Given the description of an element on the screen output the (x, y) to click on. 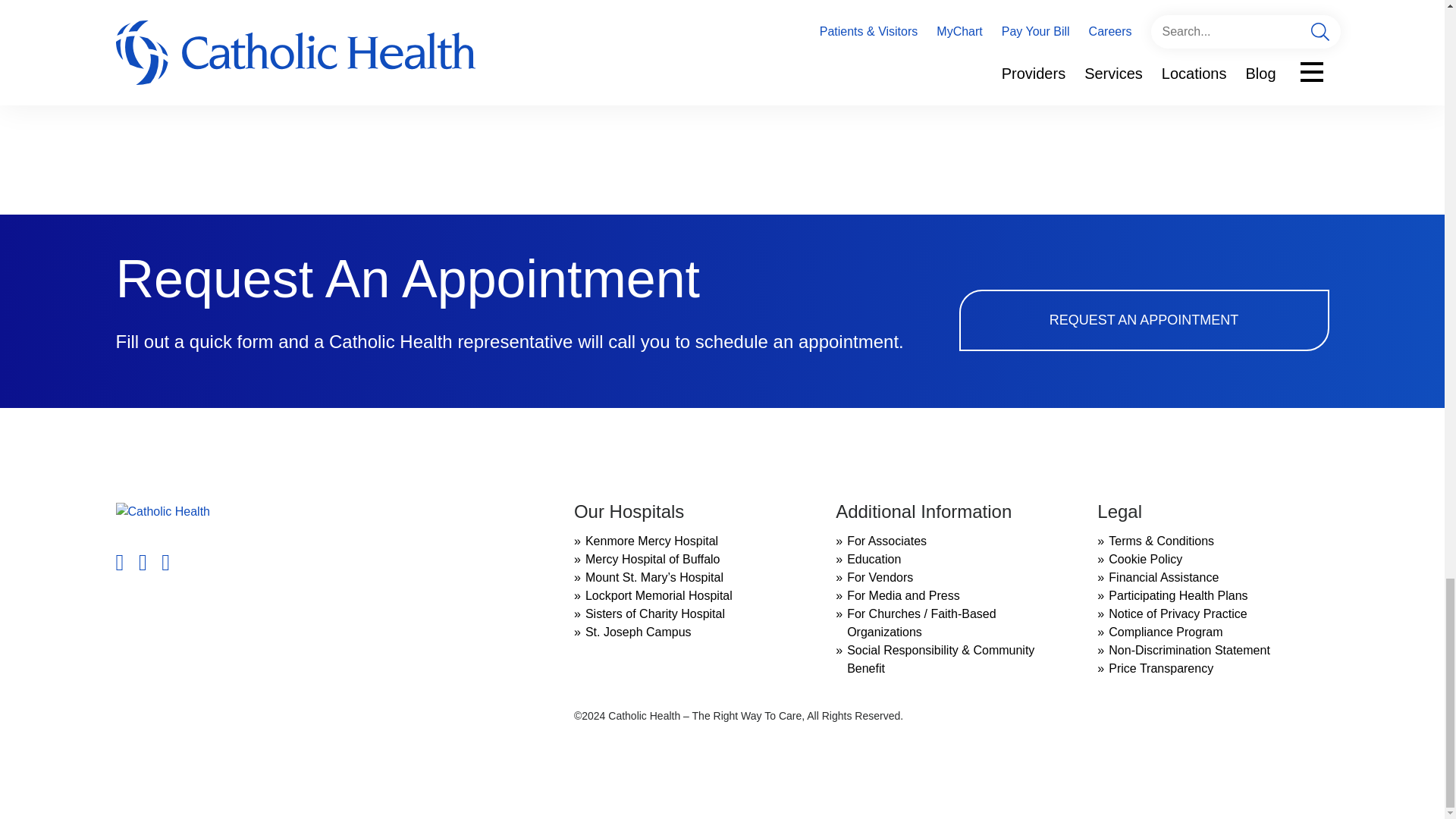
Download a PDF copy of this press release (231, 72)
Kenmore Mercy Hospital (651, 540)
Mercy Hospital of Buffalo (652, 558)
Sisters of Charity Hospital (655, 613)
Lockport Memorial Hospital (658, 594)
REQUEST AN APPOINTMENT (1142, 320)
